Given the description of an element on the screen output the (x, y) to click on. 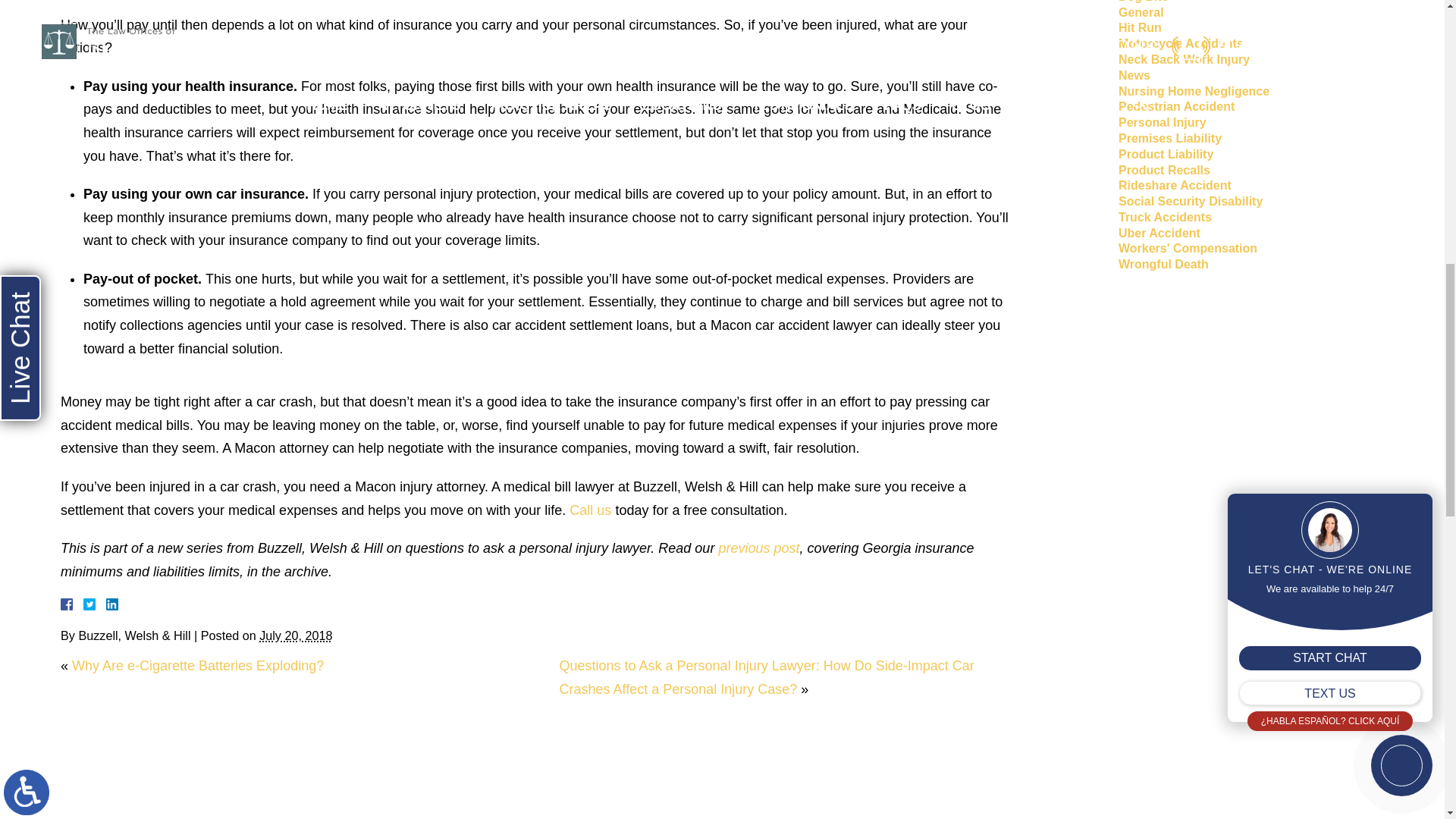
LinkedIn (106, 604)
Facebook (85, 604)
Twitter (95, 604)
2018-07-20T14:20:23-0700 (295, 635)
